Given the description of an element on the screen output the (x, y) to click on. 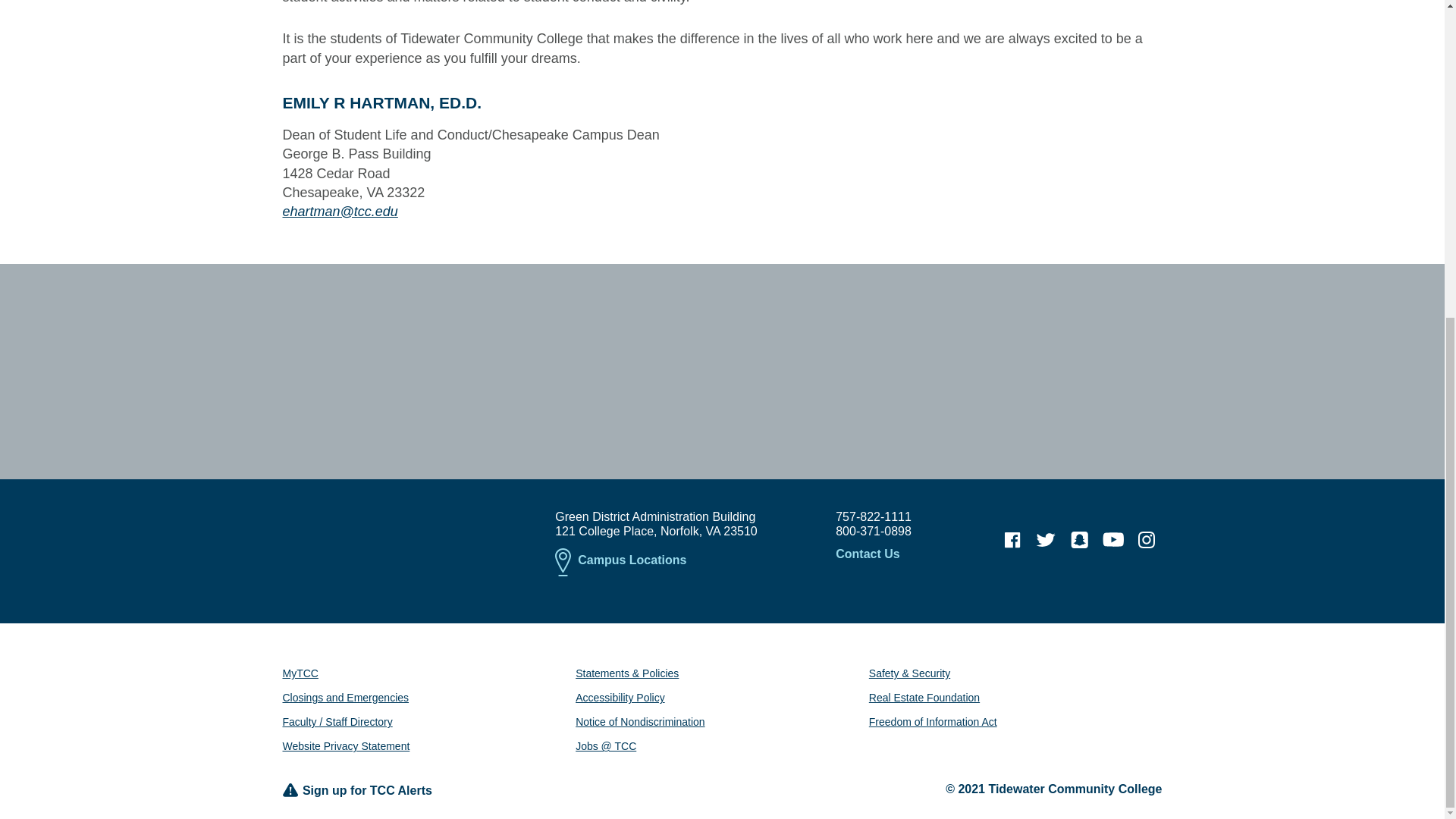
TCC on Twitter (1045, 539)
TCC on Instagram (1146, 539)
Tidewater Community College (398, 535)
TCC on YouTube (1112, 539)
TCC on Snapchat (1079, 539)
TCC on Facebook (1012, 539)
